Given the description of an element on the screen output the (x, y) to click on. 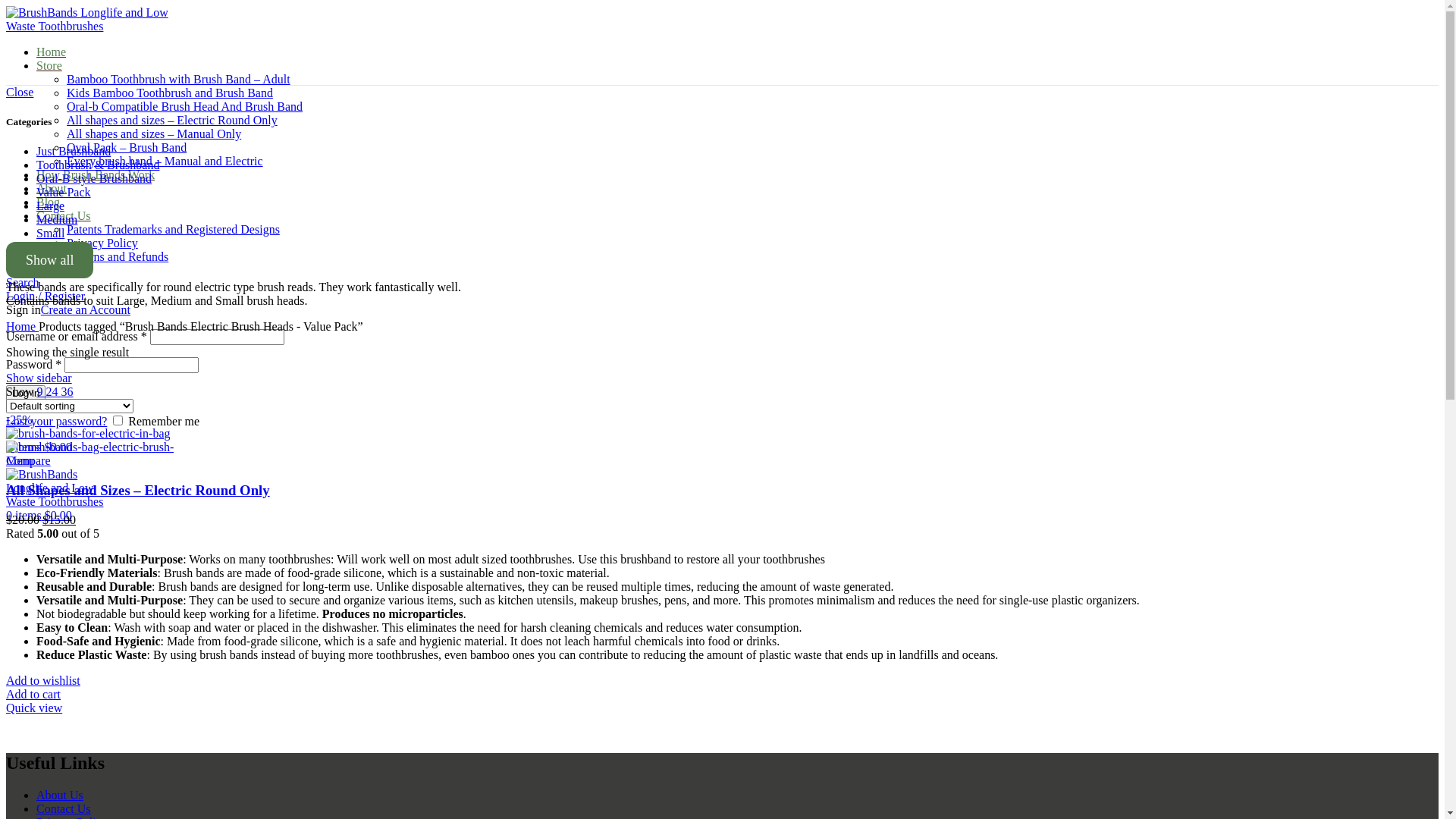
Value Pack Element type: text (63, 191)
Patents Trademarks and Registered Designs Element type: text (172, 228)
Returns and Refunds Element type: text (117, 256)
Search Element type: text (22, 282)
Toothbrush & Brushband Element type: text (97, 164)
Medium Element type: text (56, 219)
0 items $0.00 Element type: text (39, 514)
Just Brushband Element type: text (73, 150)
Close Element type: text (19, 91)
Oral-B style Brushband Element type: text (93, 178)
Show sidebar Element type: text (39, 377)
24 Element type: text (52, 391)
Compare Element type: text (28, 460)
Oral-b Compatible Brush Head And Brush Band Element type: text (184, 106)
-25% Element type: text (722, 426)
0 items $0.00 Element type: text (39, 446)
Kids Bamboo Toothbrush and Brush Band Element type: text (169, 92)
Login / Register Element type: text (45, 295)
Create an Account Element type: text (85, 309)
Remember me Element type: hover (117, 420)
Blog Element type: text (47, 201)
9 Element type: text (40, 391)
Home Element type: text (22, 326)
Large Element type: text (50, 205)
Home Element type: text (50, 51)
Contact Us Element type: text (63, 215)
How Brush Bands Work Element type: text (95, 174)
Add to wishlist Element type: text (43, 680)
Show all Element type: text (49, 259)
36 Element type: text (66, 391)
Lost your password? Element type: text (56, 420)
Small Element type: text (50, 232)
Privacy Policy Element type: text (102, 242)
Store Element type: text (49, 65)
Log in Element type: text (25, 393)
Add to cart Element type: text (33, 693)
About Us Element type: text (59, 794)
Contact Us Element type: text (63, 808)
Quick view Element type: text (34, 707)
Menu Element type: text (20, 460)
About Element type: text (51, 188)
